Given the description of an element on the screen output the (x, y) to click on. 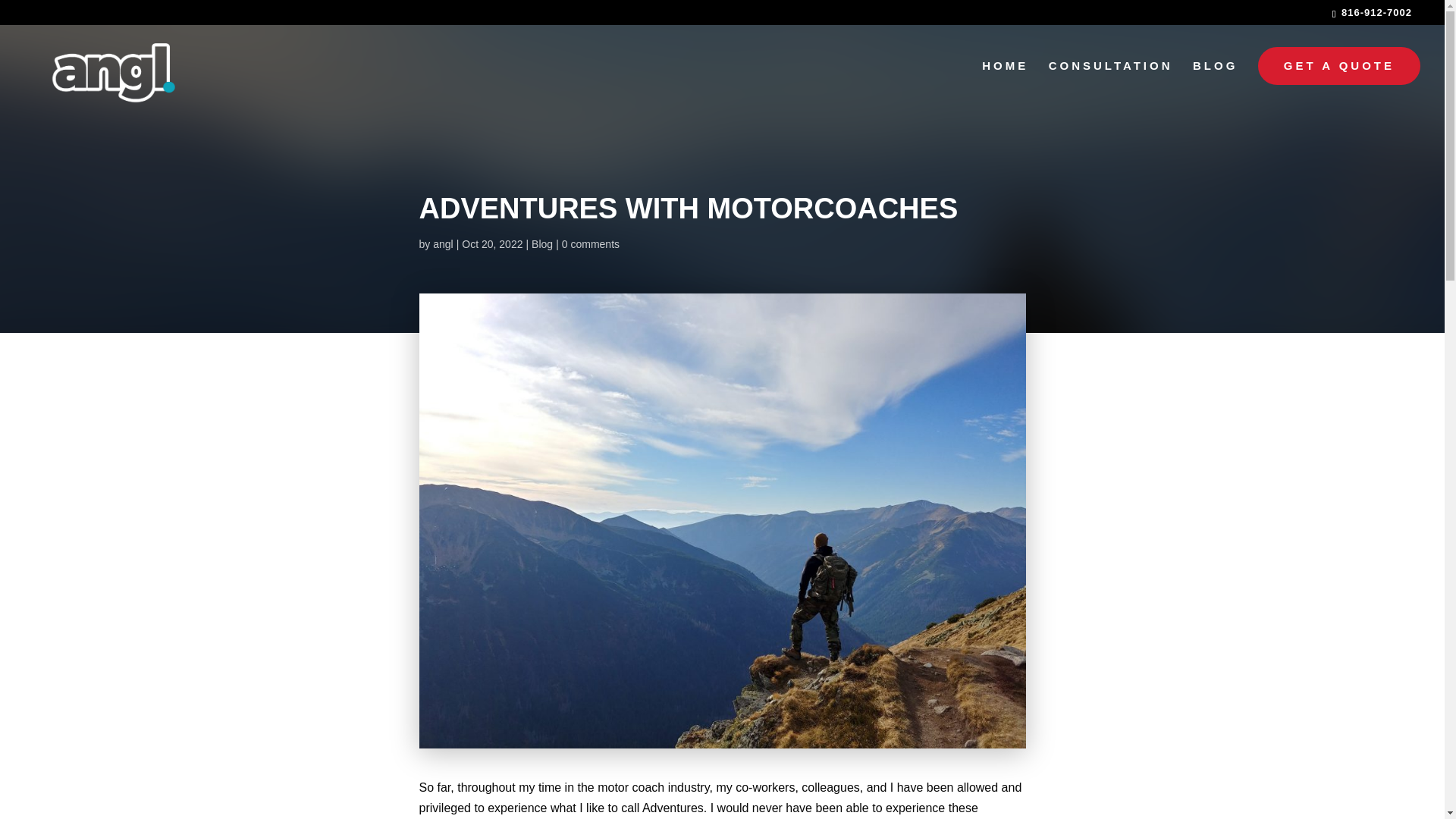
Posts by angl (442, 244)
816-912-7002 (1376, 12)
CONSULTATION (1110, 88)
angl (442, 244)
Blog (542, 244)
0 comments (591, 244)
GET A QUOTE (1339, 65)
